Given the description of an element on the screen output the (x, y) to click on. 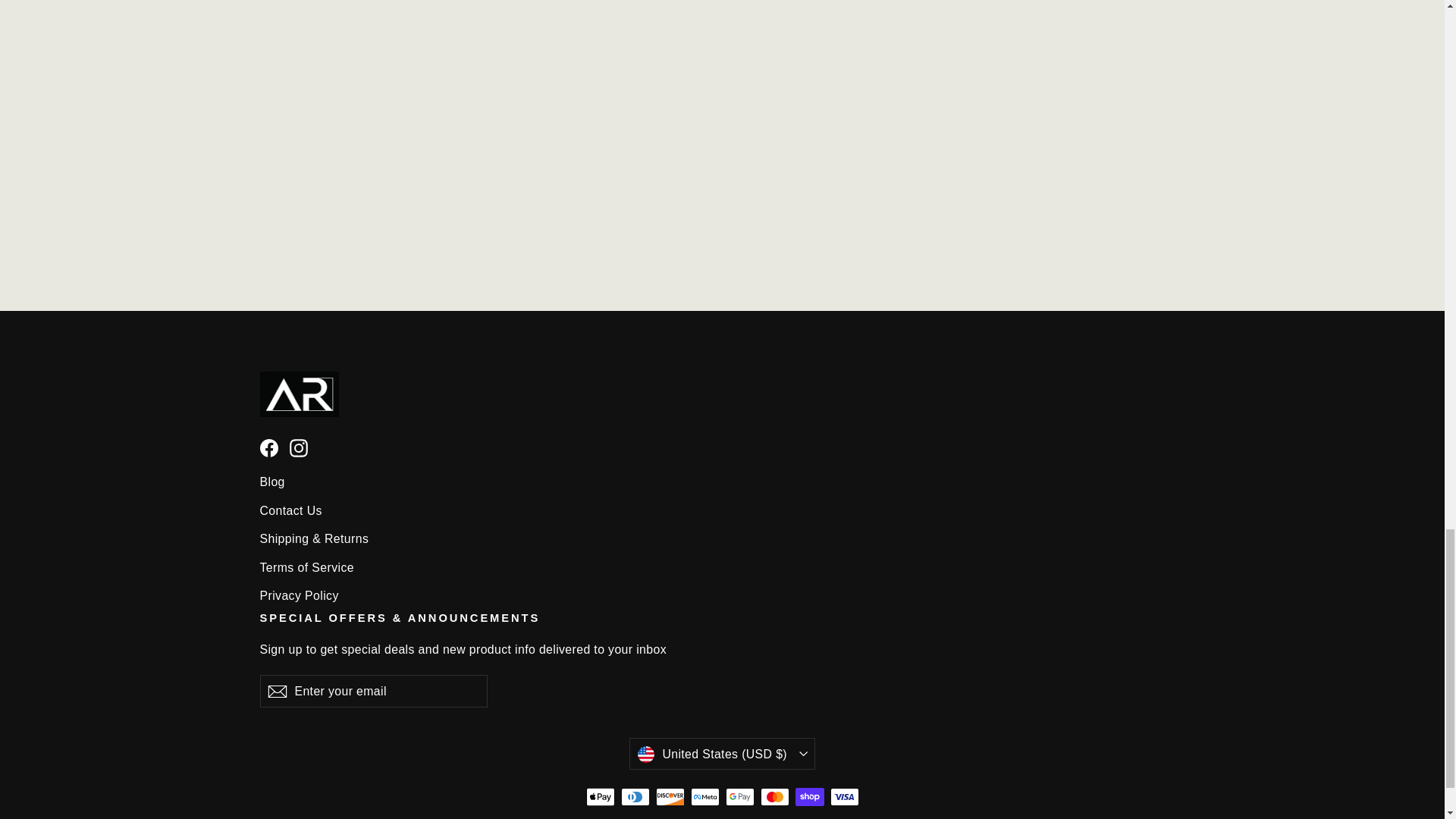
Discover (669, 796)
Diners Club (634, 796)
ARCHETYPE RACING on Instagram (298, 447)
Apple Pay (599, 796)
Google Pay (739, 796)
Meta Pay (704, 796)
